Given the description of an element on the screen output the (x, y) to click on. 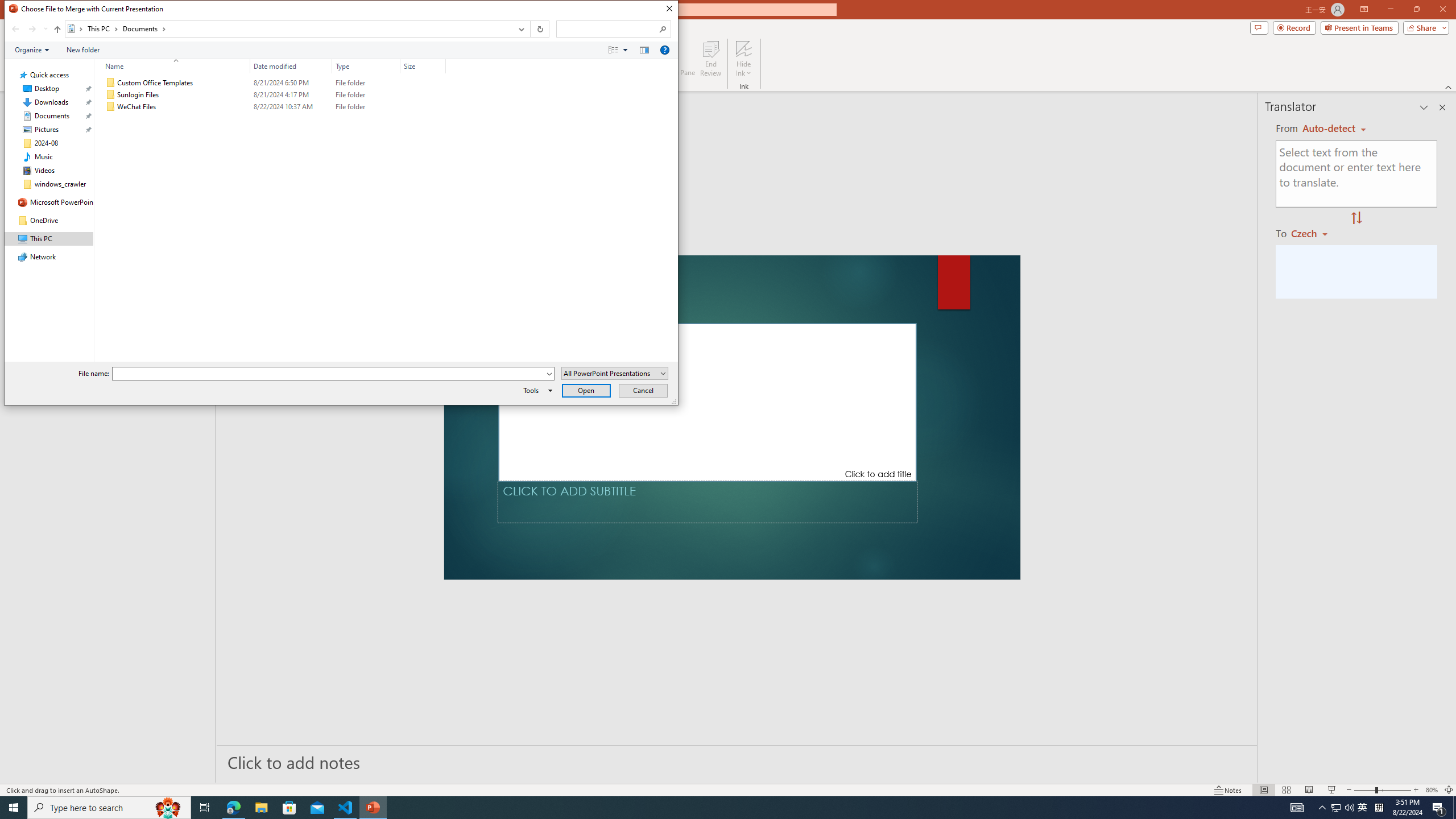
New folder (82, 49)
Tools (535, 390)
Refresh "Documents" (F5) (538, 28)
Type (365, 106)
Microsoft Edge - 1 running window (233, 807)
Address: Documents (288, 28)
